Given the description of an element on the screen output the (x, y) to click on. 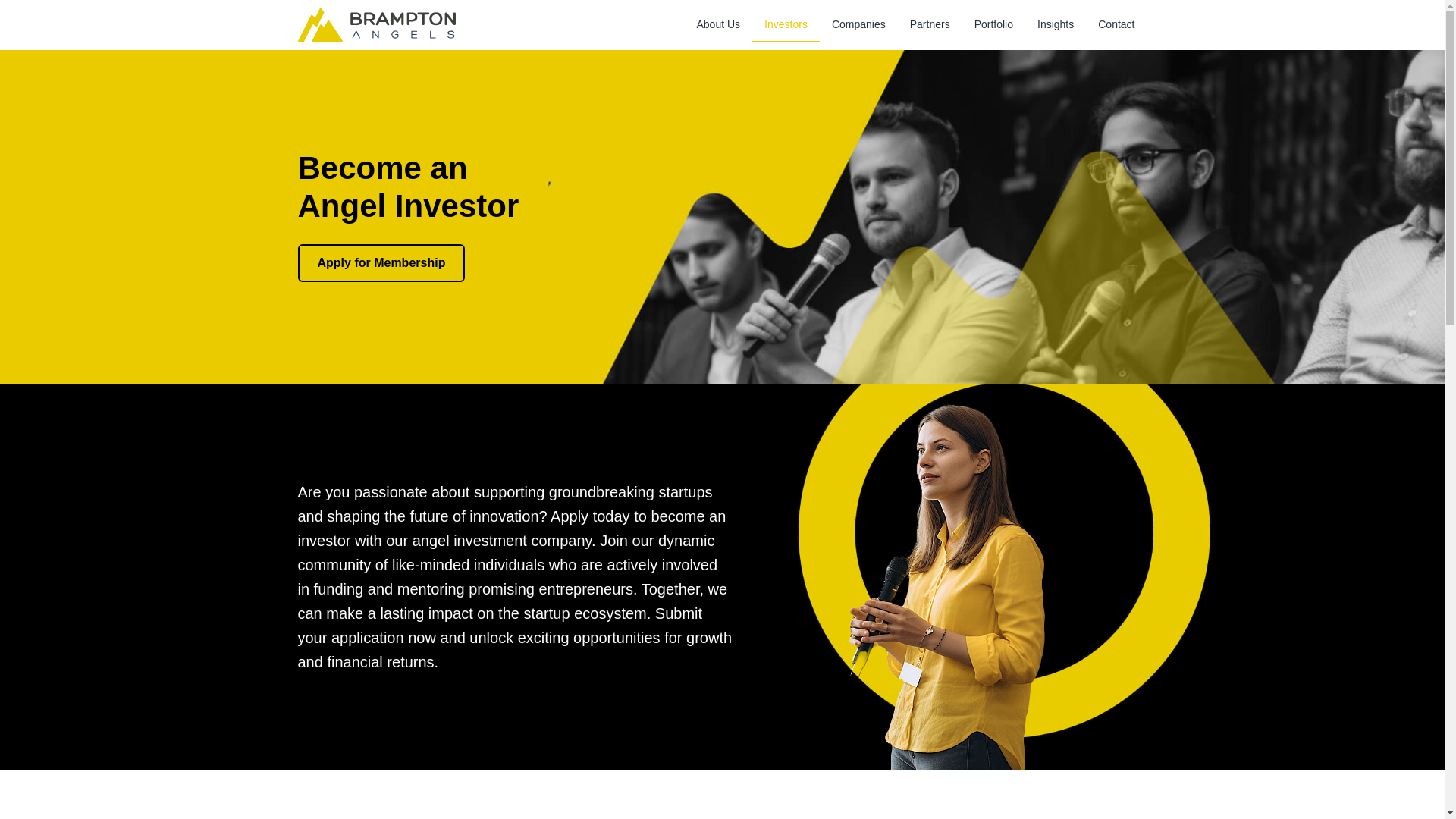
Insights (1055, 24)
Companies (858, 24)
Apply for Membership (380, 262)
Partners (930, 24)
About Us (718, 24)
Investors (785, 24)
Contact (1116, 24)
Portfolio (993, 24)
